Given the description of an element on the screen output the (x, y) to click on. 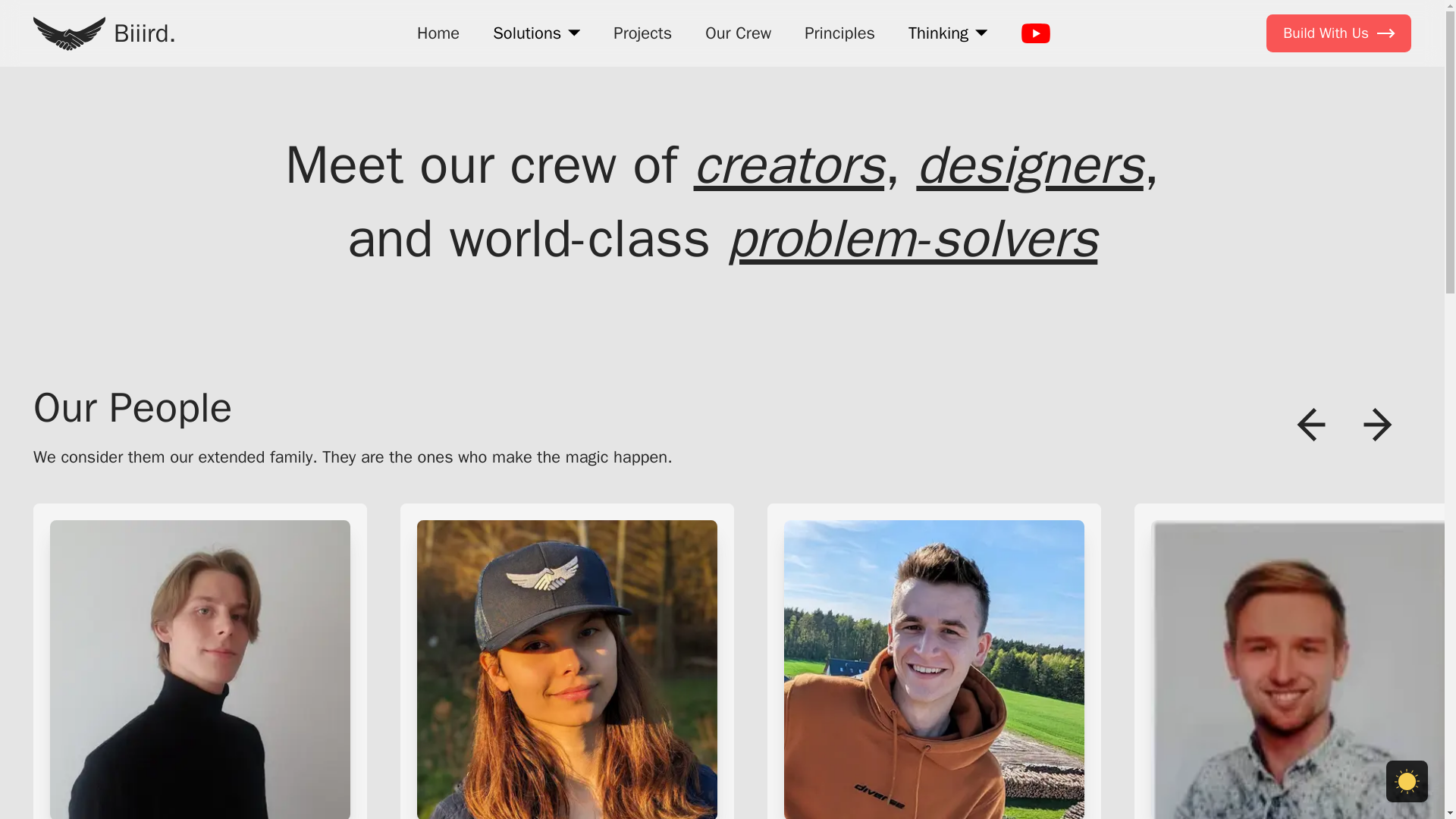
Our Crew (737, 33)
Principles (840, 33)
Biiird. (104, 33)
Thinking (947, 33)
Home (438, 33)
Solutions (536, 33)
Share on LinkedIn (1378, 99)
Share on Facebook (1319, 99)
Share via Email (1289, 99)
Share via Email (1289, 99)
Share on X (1348, 99)
Share on Facebook (1319, 99)
Projects (641, 33)
Share on LinkedIn (1378, 99)
Build With Us (1338, 33)
